Given the description of an element on the screen output the (x, y) to click on. 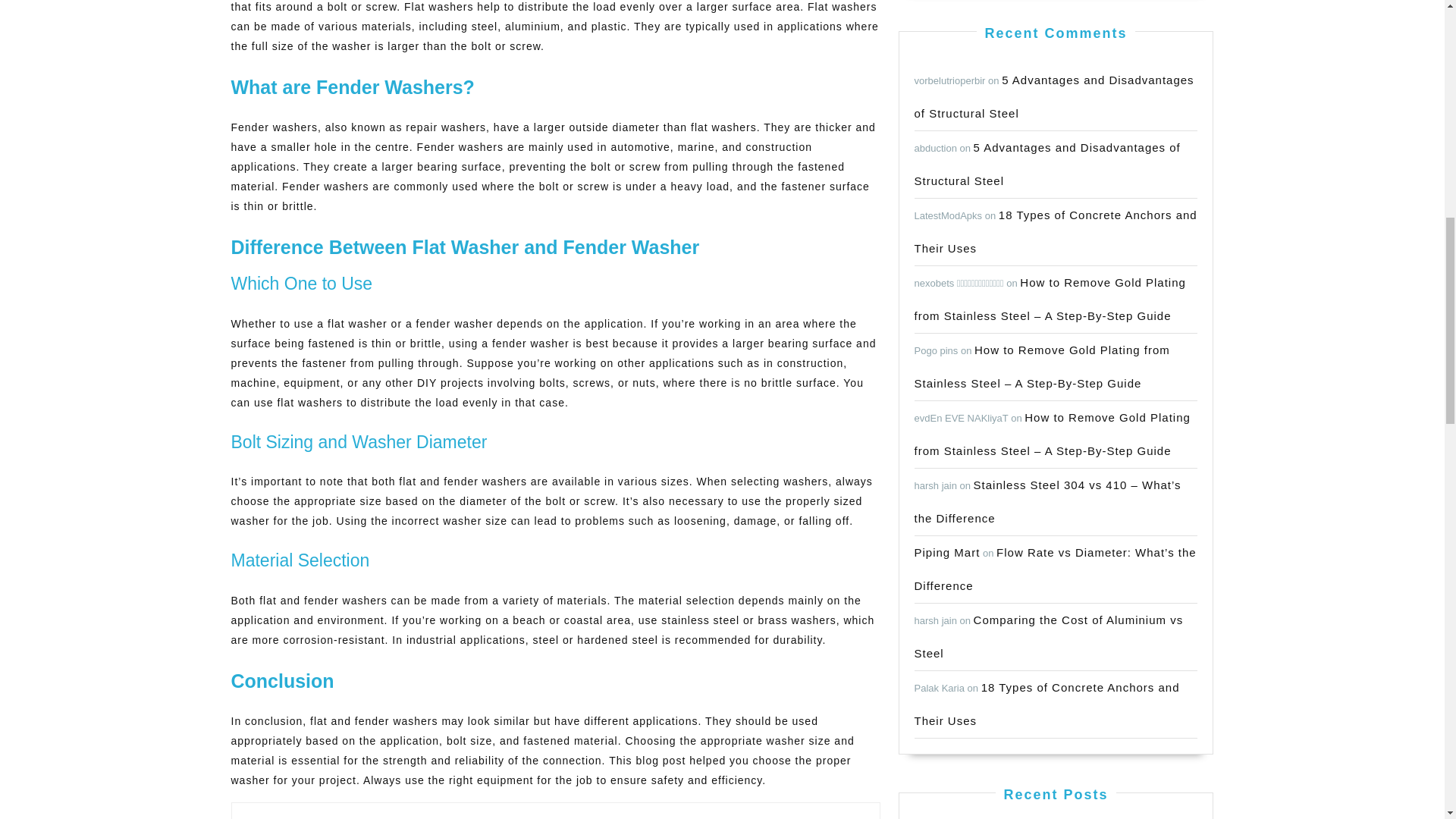
18 Types of Concrete Anchors and Their Uses (1055, 231)
5 Advantages and Disadvantages of Structural Steel (1047, 163)
5 Advantages and Disadvantages of Structural Steel (1053, 96)
